Given the description of an element on the screen output the (x, y) to click on. 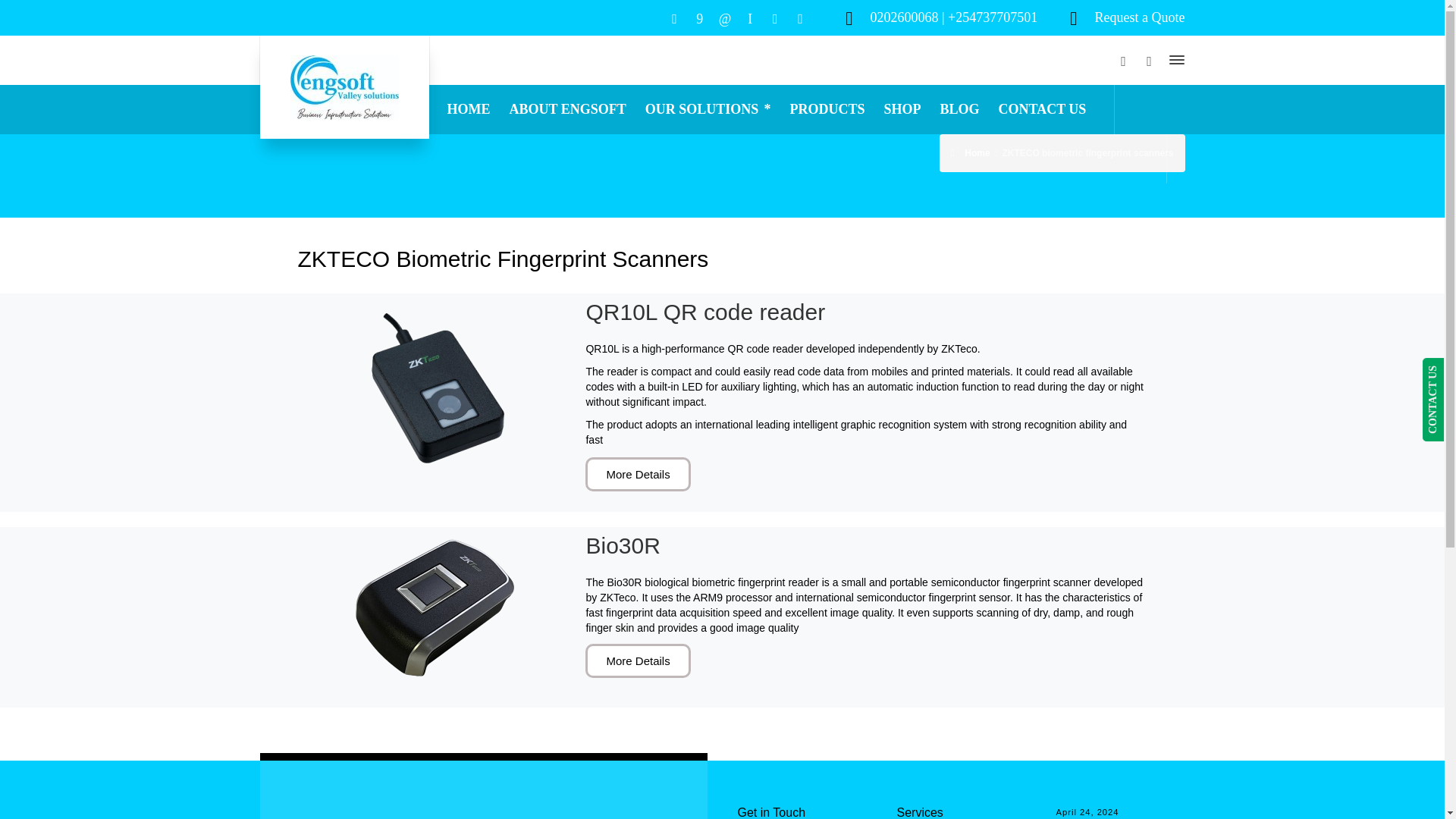
Bio30R biological biometric fingerprint reader (433, 605)
click to call (952, 17)
PRODUCTS (827, 109)
Linkedin (723, 18)
SHOP (902, 109)
CONTACT US (1042, 109)
Instagram (774, 18)
OUR SOLUTIONS (708, 109)
Skype (750, 18)
BLOG (959, 109)
